Given the description of an element on the screen output the (x, y) to click on. 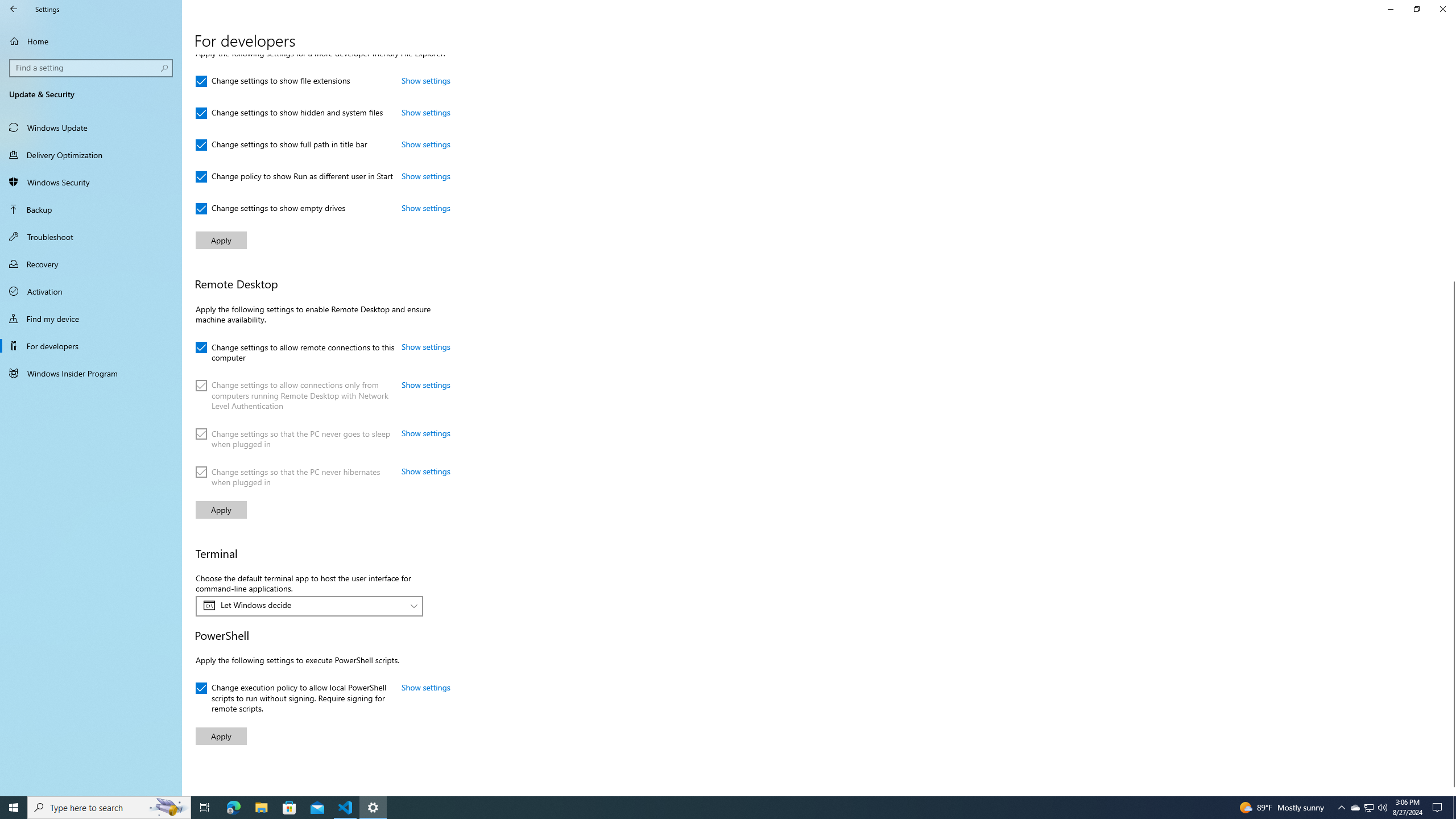
Activation (91, 290)
Microsoft Store (289, 807)
Search highlights icon opens search home window (167, 807)
Action Center, No new notifications (1439, 807)
Visual Studio Code - 1 running window (345, 807)
Close Settings (1442, 9)
Recovery (91, 263)
Vertical Large Decrease (1451, 172)
Show desktop (1454, 807)
Change settings to show full path in title bar (280, 144)
